Given the description of an element on the screen output the (x, y) to click on. 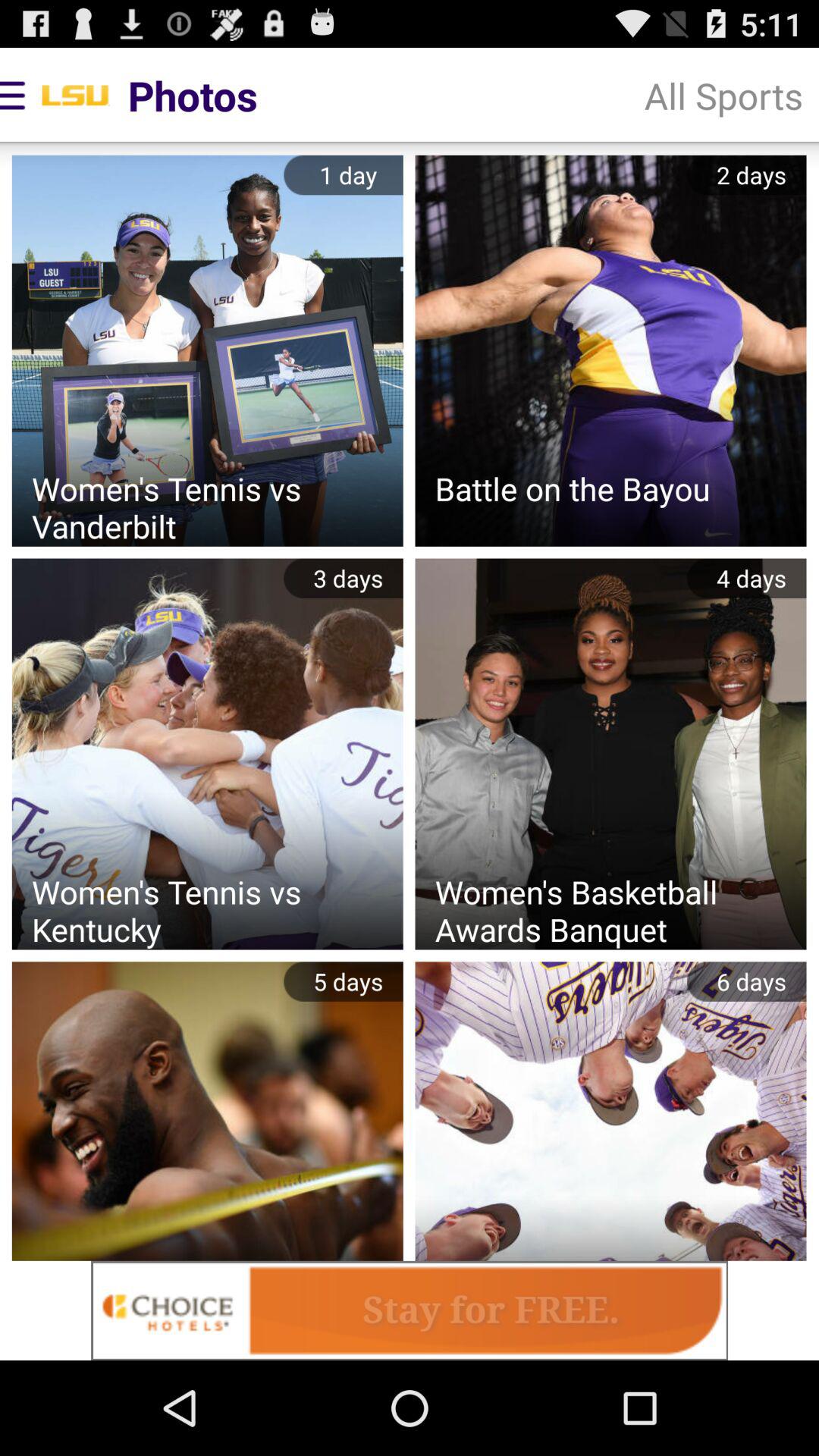
link to choice hotels website (409, 1310)
